Given the description of an element on the screen output the (x, y) to click on. 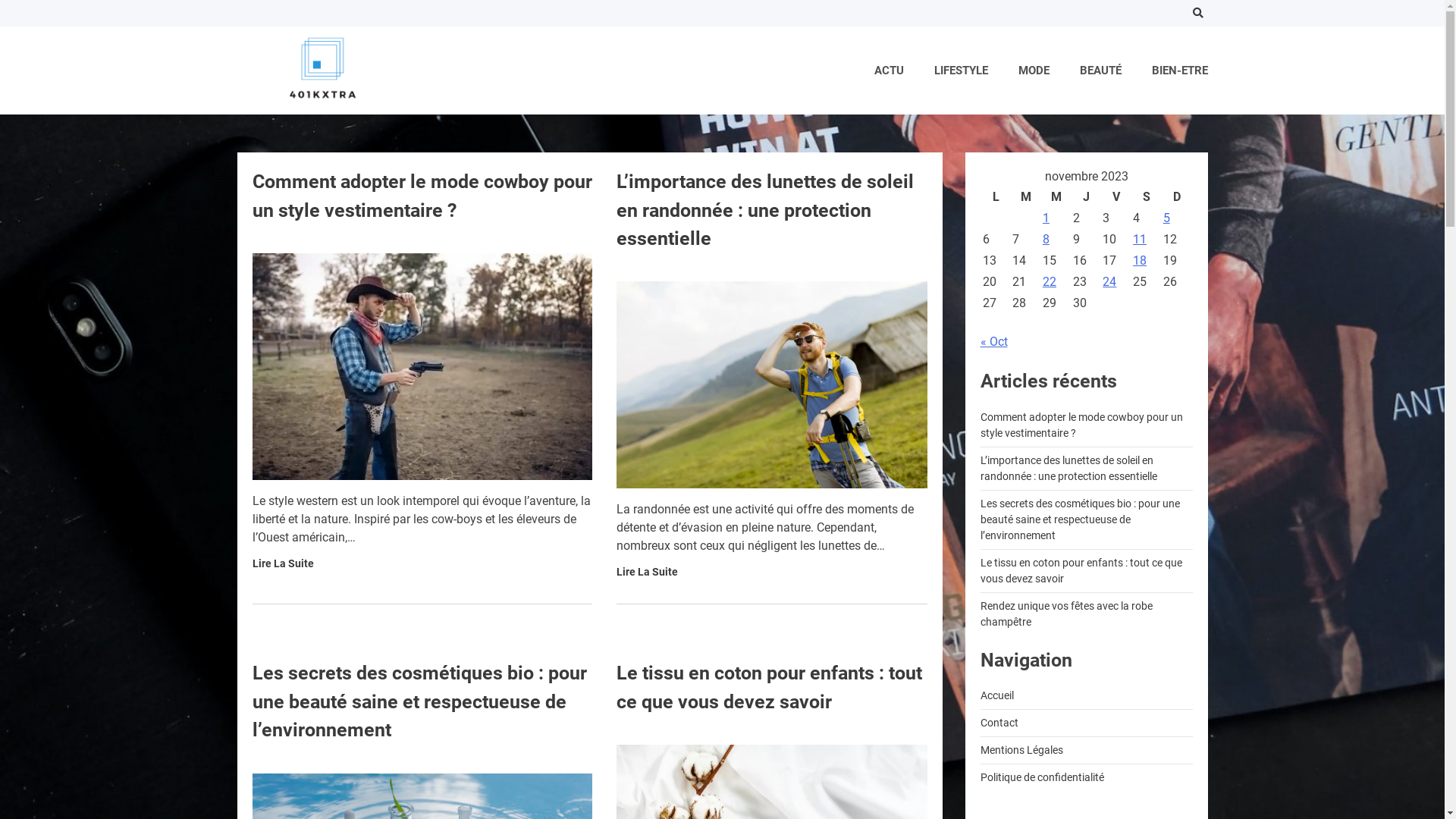
LIFESTYLE Element type: text (961, 70)
24 Element type: text (1109, 281)
Contact Element type: text (998, 722)
1 Element type: text (1045, 217)
Comment adopter le mode cowboy pour un style vestimentaire ? Element type: text (421, 195)
Lire La Suite Element type: text (282, 563)
5 Element type: text (1166, 217)
Comment adopter le mode cowboy pour un style vestimentaire ? Element type: text (1080, 425)
Search Element type: hover (1197, 13)
11 Element type: text (1139, 239)
18 Element type: text (1139, 260)
8 Element type: text (1045, 239)
BIEN-ETRE Element type: text (1178, 70)
22 Element type: text (1049, 281)
Lire La Suite Element type: text (646, 571)
MODE Element type: text (1032, 70)
Accueil Element type: text (996, 695)
Rechercher Element type: text (1168, 51)
ACTU Element type: text (888, 70)
